Given the description of an element on the screen output the (x, y) to click on. 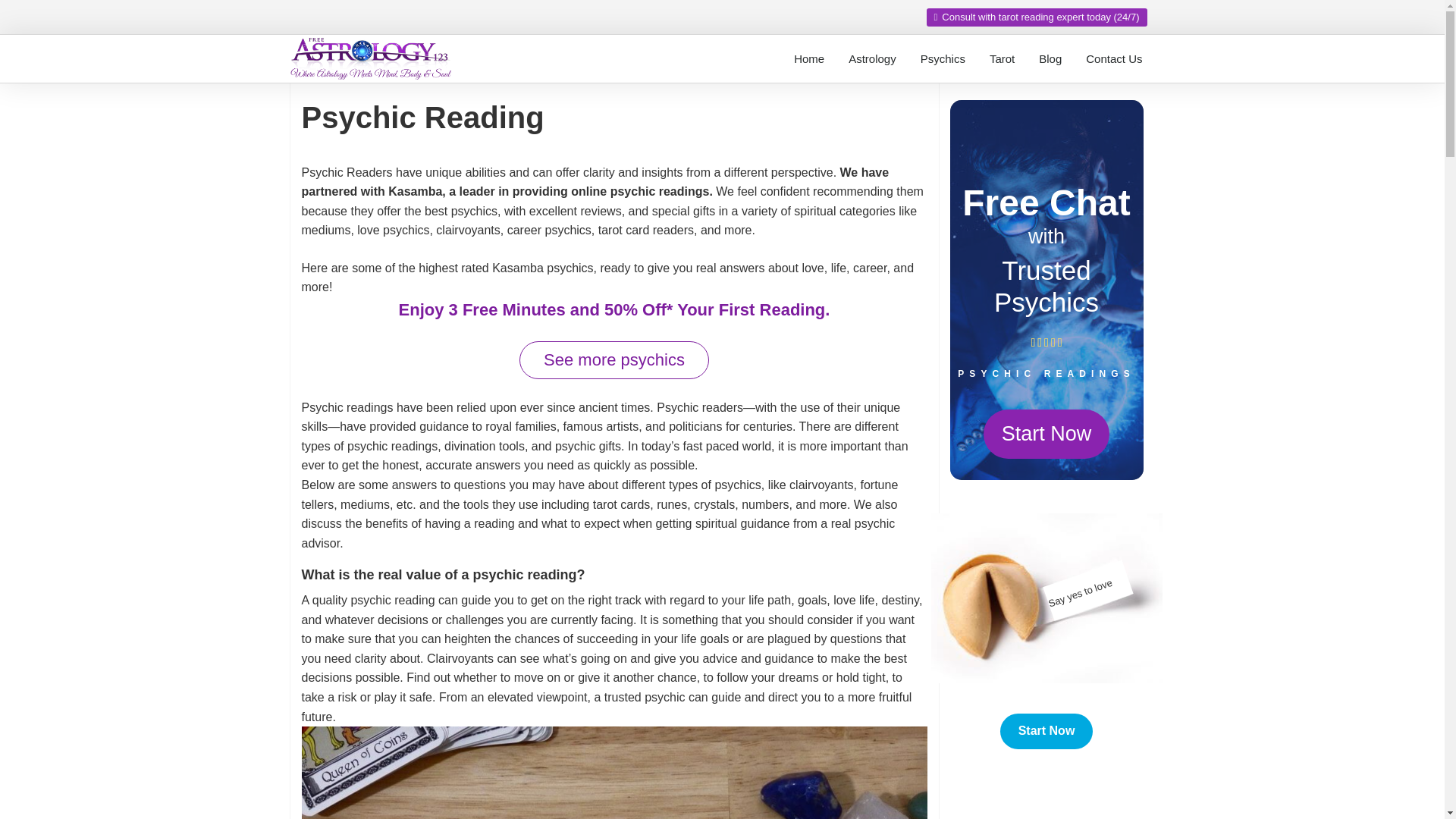
Contact Us (1114, 58)
Astrology (871, 58)
Start Now (1046, 731)
Tarot (1001, 58)
Psychics (942, 58)
Home (808, 58)
Blog (1050, 58)
